Given the description of an element on the screen output the (x, y) to click on. 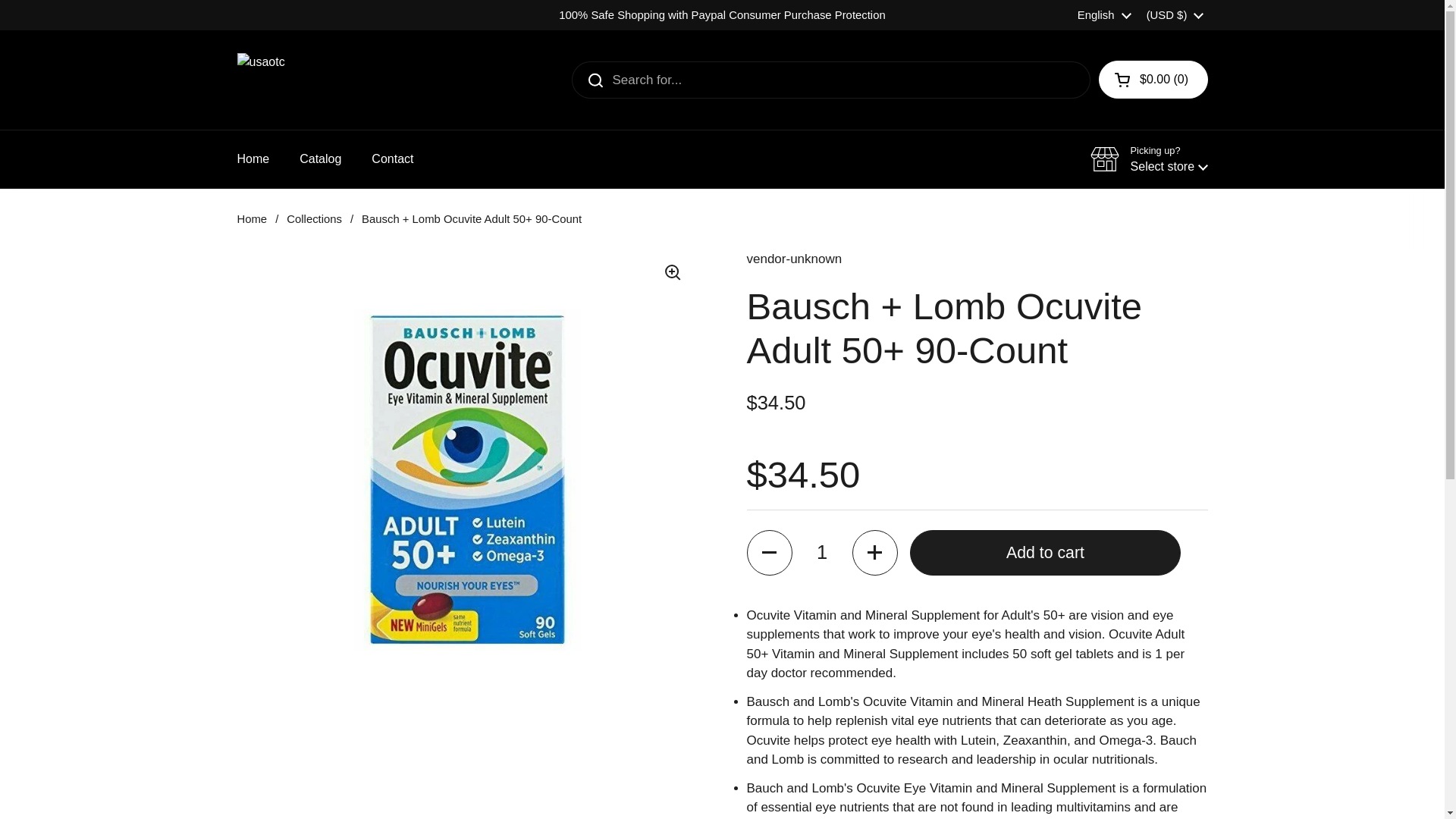
Home (252, 158)
Add to cart (1045, 552)
Catalog (319, 158)
English (1104, 14)
vendor-unknown (793, 259)
usaotc (357, 80)
Contact (392, 158)
1 (821, 552)
Home (250, 218)
